Given the description of an element on the screen output the (x, y) to click on. 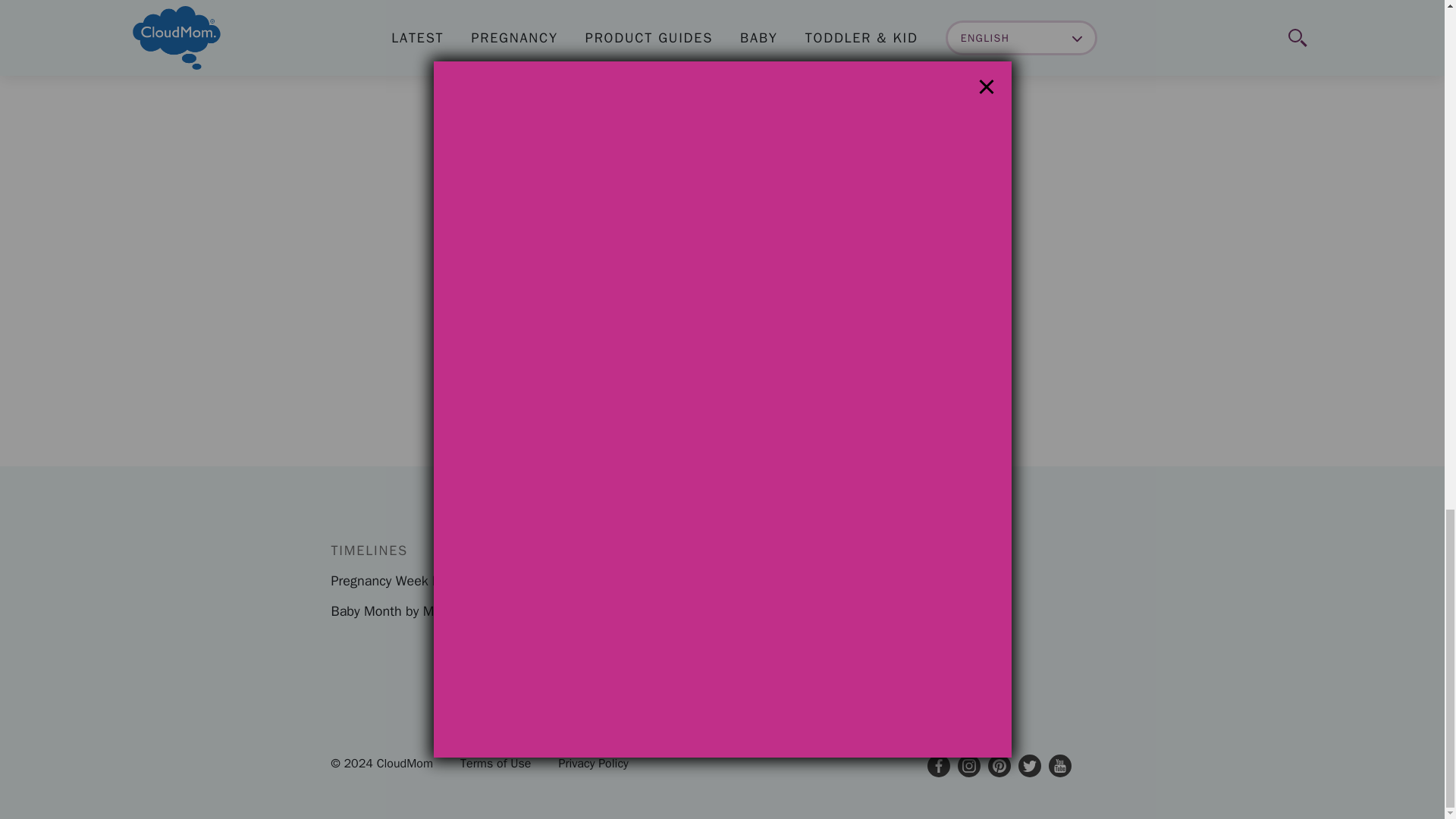
facebook (937, 765)
pinterest (998, 765)
Read more: Stage 3 Baby Food (396, 13)
instagram (967, 765)
Track My Baby (817, 342)
twitter (1029, 765)
